Given the description of an element on the screen output the (x, y) to click on. 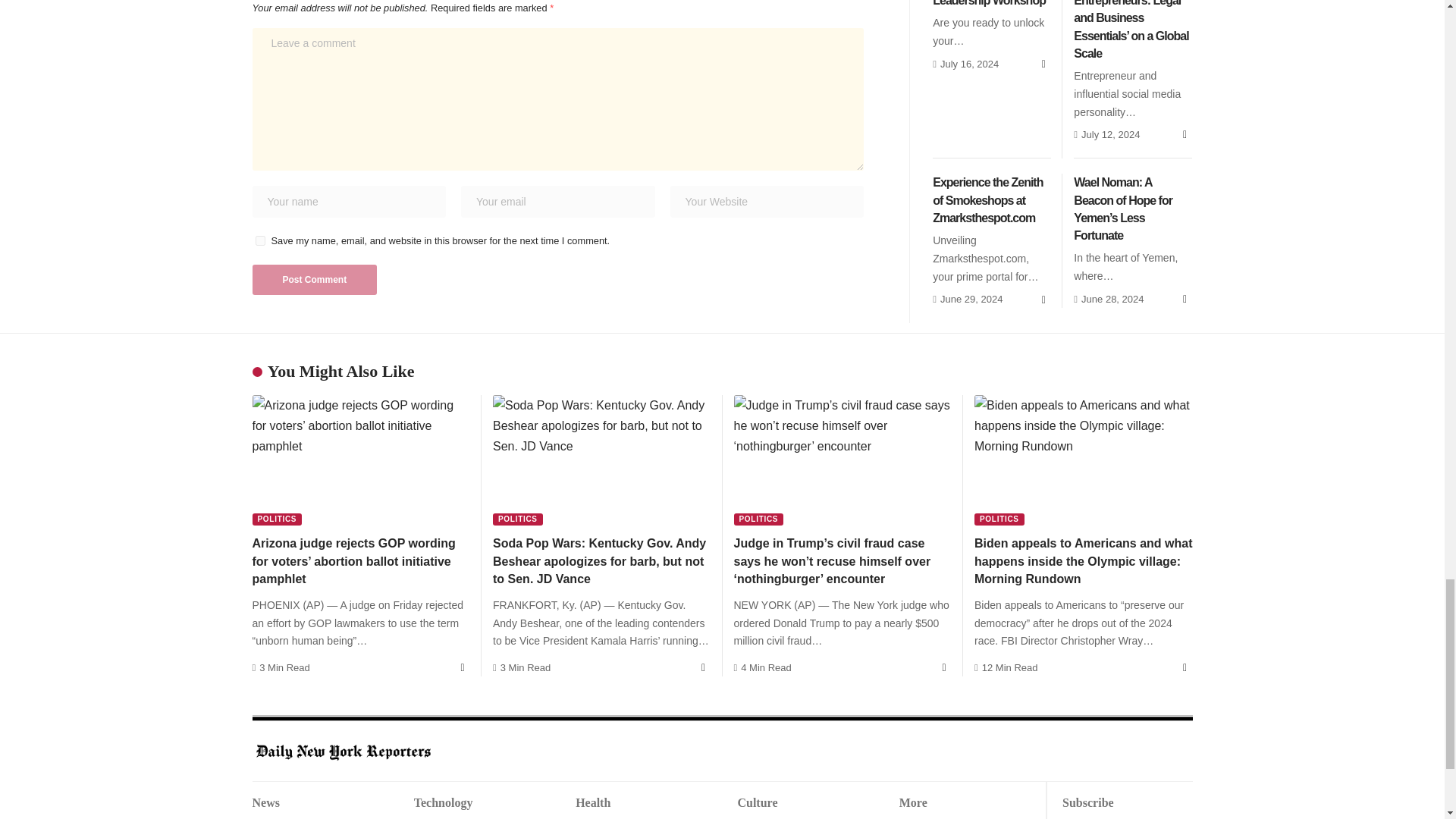
Post Comment (314, 279)
yes (259, 240)
